Given the description of an element on the screen output the (x, y) to click on. 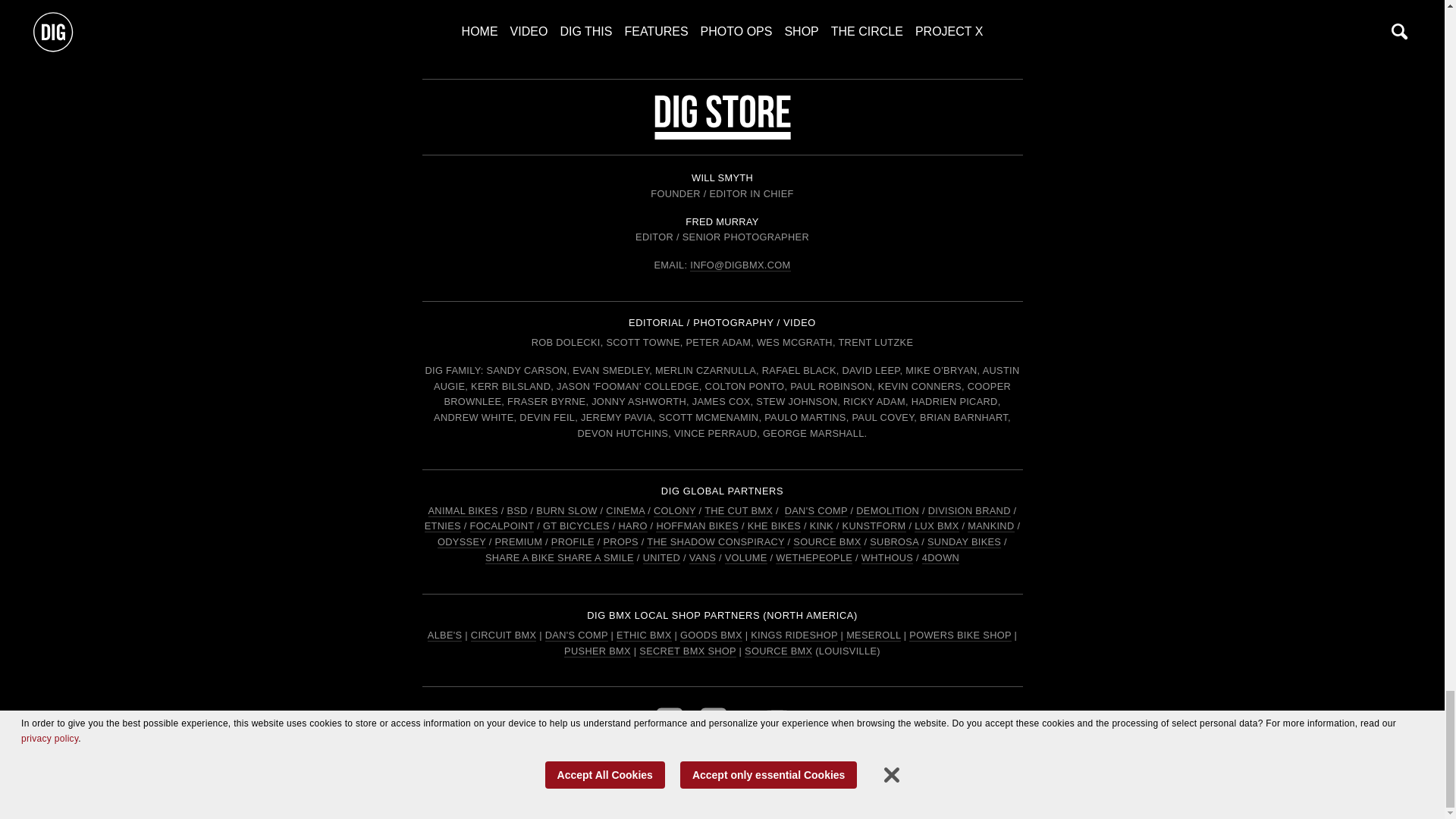
To the top (722, 9)
